Given the description of an element on the screen output the (x, y) to click on. 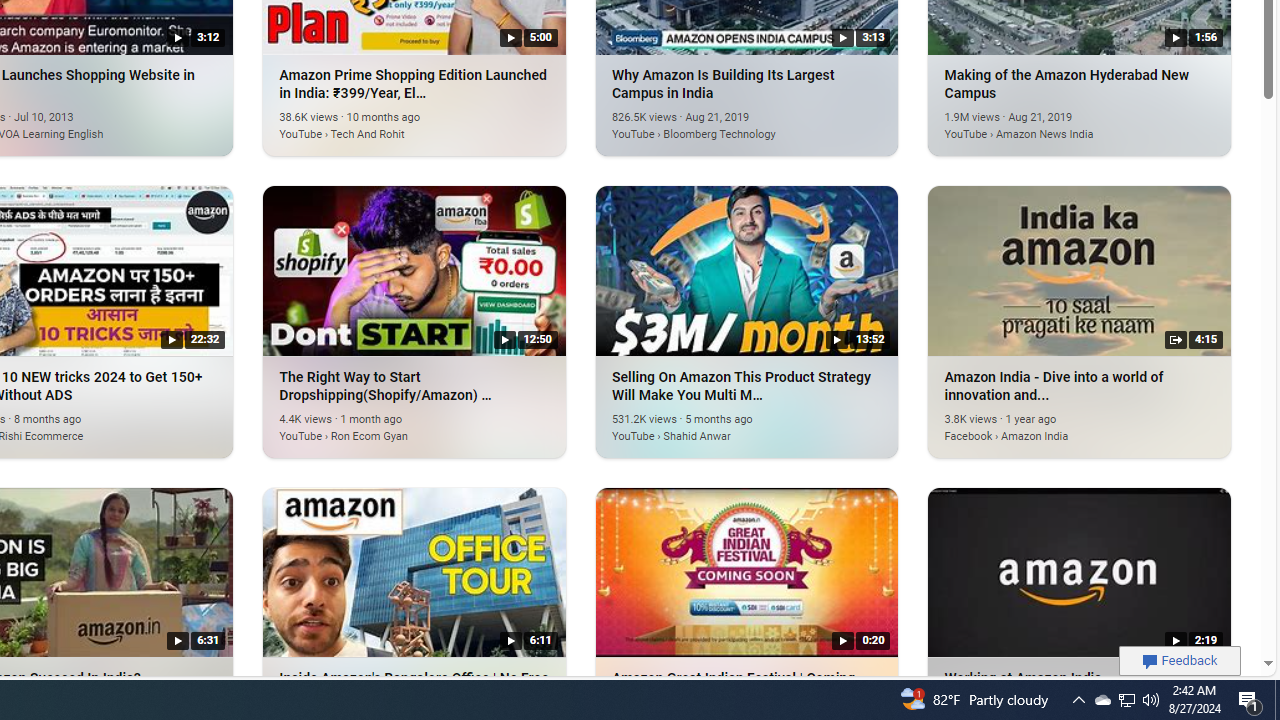
Working at Amazon India (1079, 571)
Amazon India - Dive into a world of innovation and... (1079, 270)
